Given the description of an element on the screen output the (x, y) to click on. 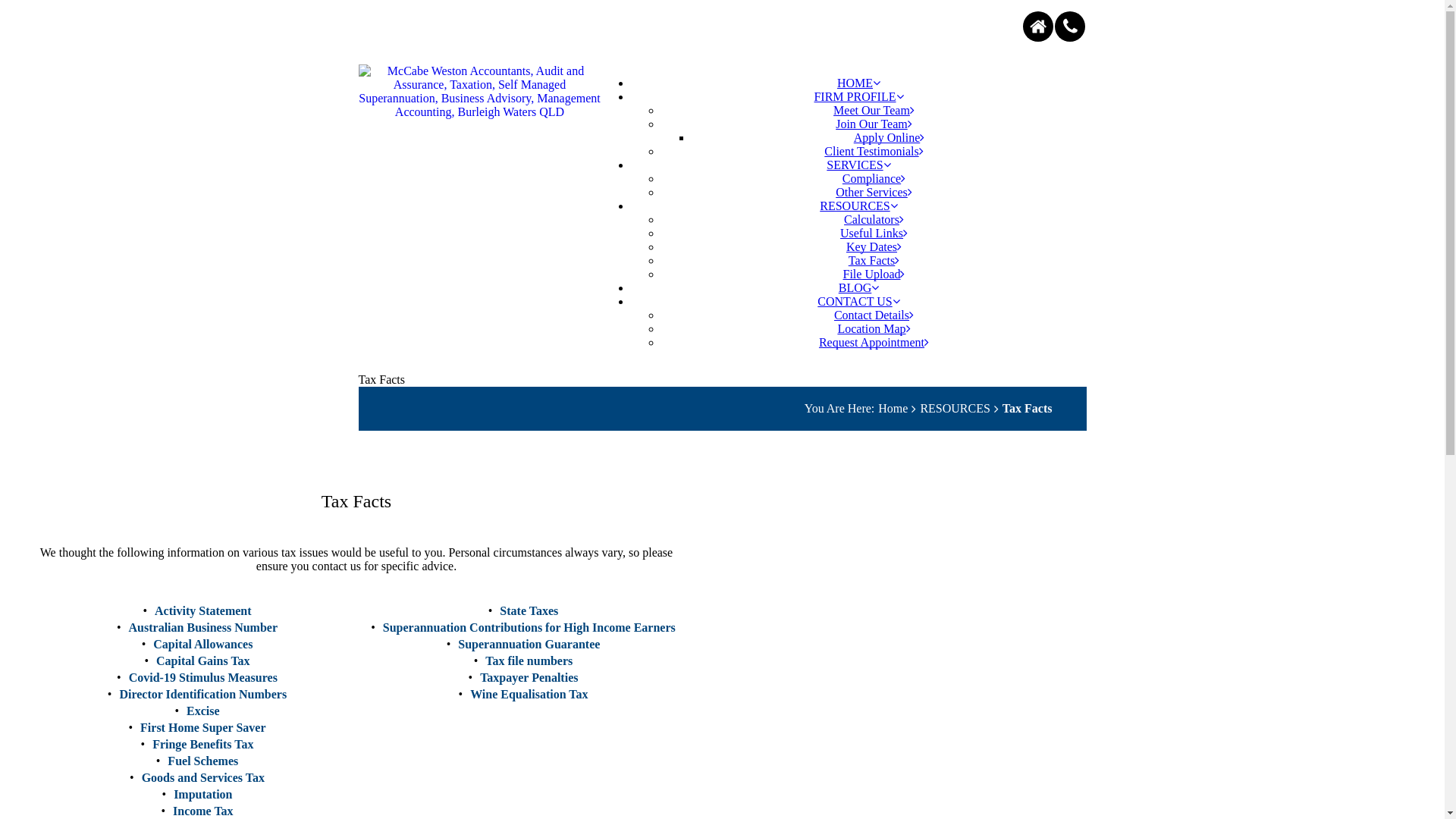
Other Services Element type: text (873, 191)
Home Element type: text (892, 408)
Imputation Element type: text (202, 793)
Superannuation Contributions for High Income Earners Element type: text (528, 627)
Tax Facts Element type: text (874, 260)
Capital Gains Tax Element type: text (203, 660)
Contact Details Element type: text (873, 314)
Excise Element type: text (202, 710)
Compliance Element type: text (873, 178)
RESOURCES Element type: text (858, 205)
Tax Facts Element type: text (1027, 408)
Meet Our Team Element type: text (873, 109)
Useful Links Element type: text (873, 232)
File Upload Element type: text (873, 273)
Taxpayer Penalties Element type: text (528, 677)
Goods and Services Tax Element type: text (202, 777)
BLOG Element type: text (858, 287)
SERVICES Element type: text (858, 164)
State Taxes Element type: text (528, 610)
Covid-19 Stimulus Measures Element type: text (202, 677)
Fringe Benefits Tax Element type: text (202, 743)
CONTACT US Element type: text (858, 300)
FIRM PROFILE Element type: text (858, 96)
Client Testimonials Element type: text (873, 150)
Request Appointment Element type: text (873, 341)
Tax file numbers Element type: text (528, 660)
Apply Online Element type: text (889, 137)
Australian Business Number Element type: text (202, 627)
RESOURCES Element type: text (954, 408)
Calculators Element type: text (873, 219)
Capital Allowances Element type: text (202, 643)
home Element type: text (1037, 26)
First Home Super Saver Element type: text (202, 727)
Join Our Team Element type: text (873, 123)
Wine Equalisation Tax Element type: text (528, 693)
HOME Element type: text (858, 82)
contact_us Element type: text (1069, 26)
Location Map Element type: text (873, 328)
Key Dates Element type: text (873, 246)
Income Tax Element type: text (202, 810)
Fuel Schemes Element type: text (202, 760)
Director Identification Numbers Element type: text (202, 693)
Superannuation Guarantee Element type: text (528, 643)
Activity Statement Element type: text (202, 610)
